Given the description of an element on the screen output the (x, y) to click on. 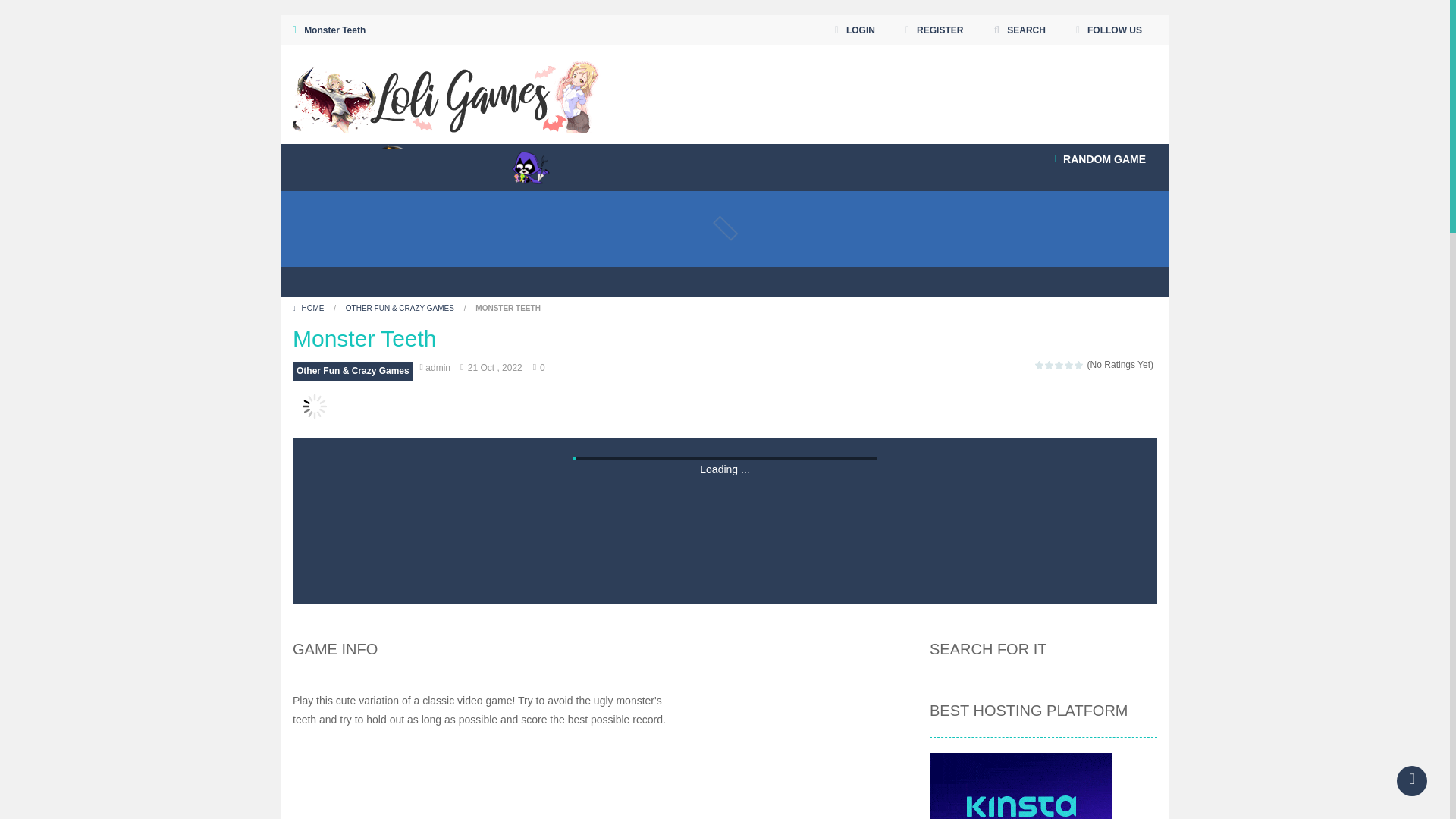
Loli Games (446, 93)
Play a random game! (1099, 159)
LOGIN (855, 30)
RANDOM GAME (1099, 159)
Loli Games (446, 94)
FOLLOW US (1108, 30)
SEARCH (1019, 30)
REGISTER (933, 30)
